Given the description of an element on the screen output the (x, y) to click on. 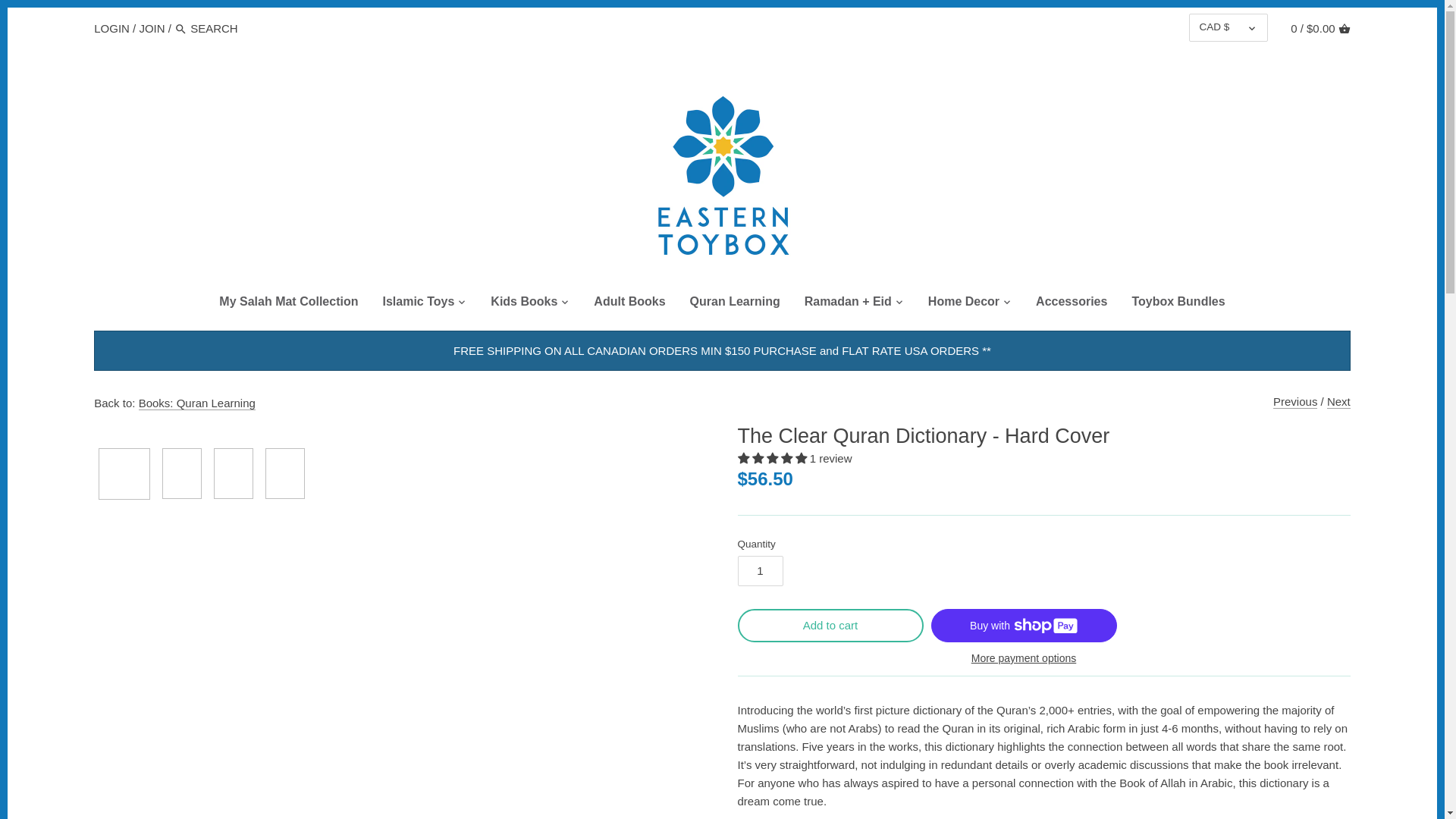
Search (180, 29)
Kids Books (524, 304)
Islamic Toys (417, 304)
1 (759, 571)
Quran Learning (735, 304)
My Salah Mat Collection (287, 304)
Toybox Bundles (1177, 304)
JOIN (151, 27)
LOGIN (111, 27)
Adult Books (628, 304)
Search (180, 29)
Books: Quran Learning (197, 403)
Home Decor (963, 304)
Next (1338, 401)
Previous (1294, 401)
